Given the description of an element on the screen output the (x, y) to click on. 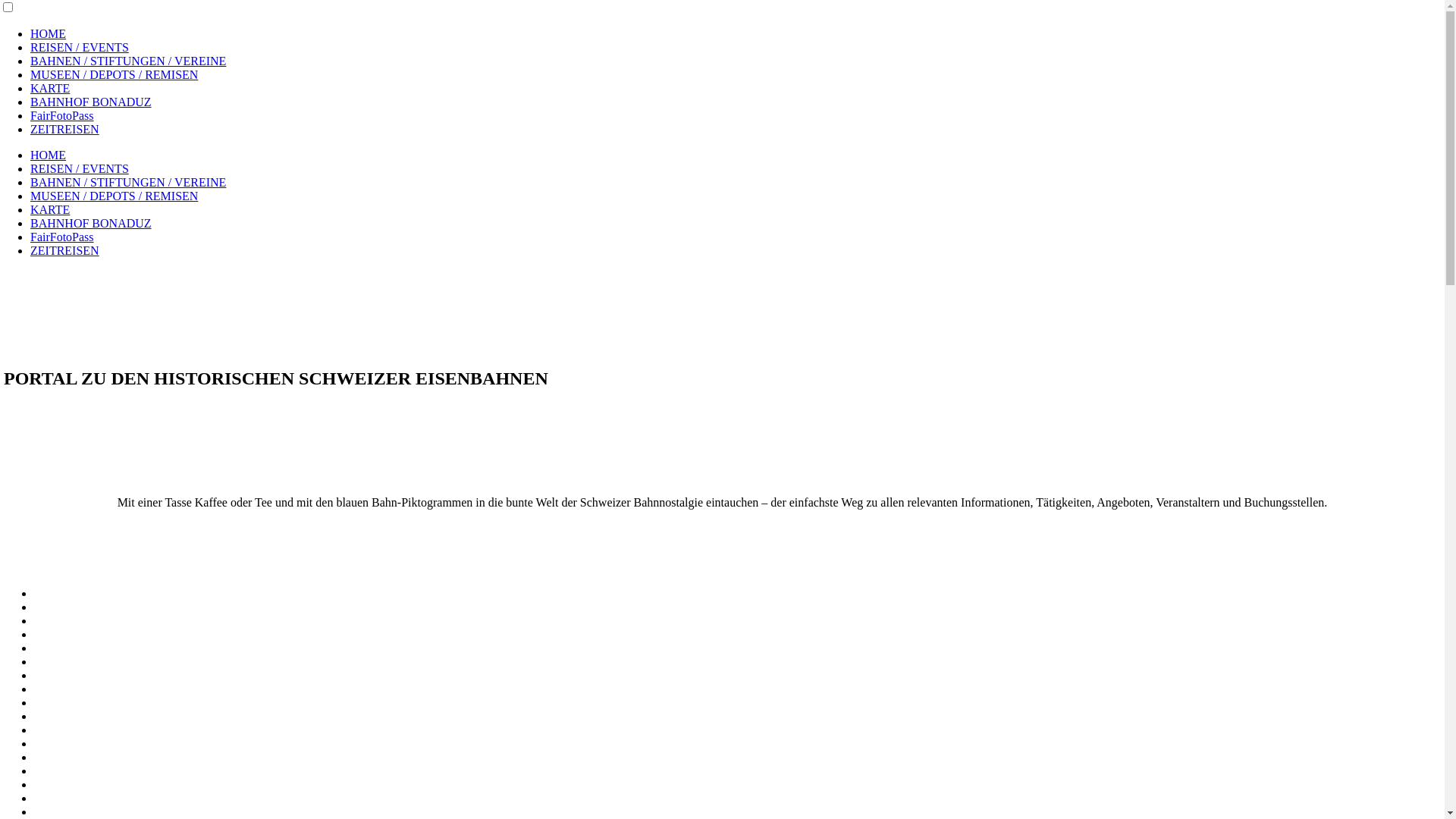
ZEITREISEN Element type: text (64, 128)
REISEN / EVENTS Element type: text (79, 168)
FairFotoPass Element type: text (62, 236)
BAHNEN / STIFTUNGEN / VEREINE Element type: text (127, 181)
BAHNEN / STIFTUNGEN / VEREINE Element type: text (127, 60)
KARTE Element type: text (49, 87)
FairFotoPass Element type: text (62, 115)
MUSEEN / DEPOTS / REMISEN Element type: text (113, 74)
KARTE Element type: text (49, 209)
BAHNHOF BONADUZ Element type: text (90, 222)
BAHNHOF BONADUZ Element type: text (90, 101)
HOME Element type: text (47, 33)
MUSEEN / DEPOTS / REMISEN Element type: text (113, 195)
REISEN / EVENTS Element type: text (79, 46)
HOME Element type: text (47, 154)
ZEITREISEN Element type: text (64, 250)
